Given the description of an element on the screen output the (x, y) to click on. 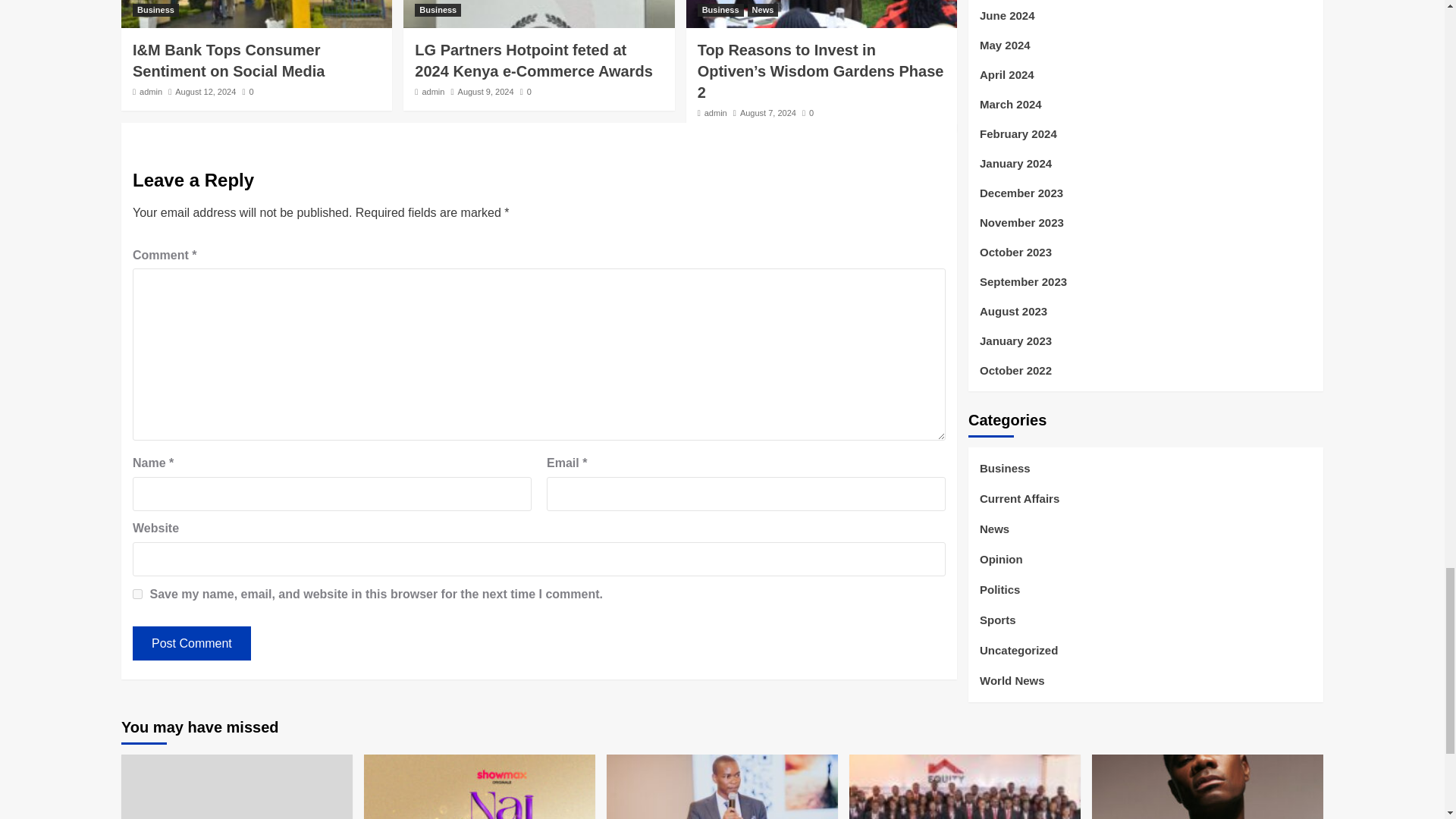
LG Partners Hotpoint feted at 2024 Kenya e-Commerce Awards (533, 60)
admin (433, 91)
0 (525, 91)
August 12, 2024 (204, 91)
Post Comment (191, 643)
Business (437, 10)
Post Comment (191, 643)
yes (137, 593)
August 7, 2024 (767, 112)
admin (715, 112)
